Given the description of an element on the screen output the (x, y) to click on. 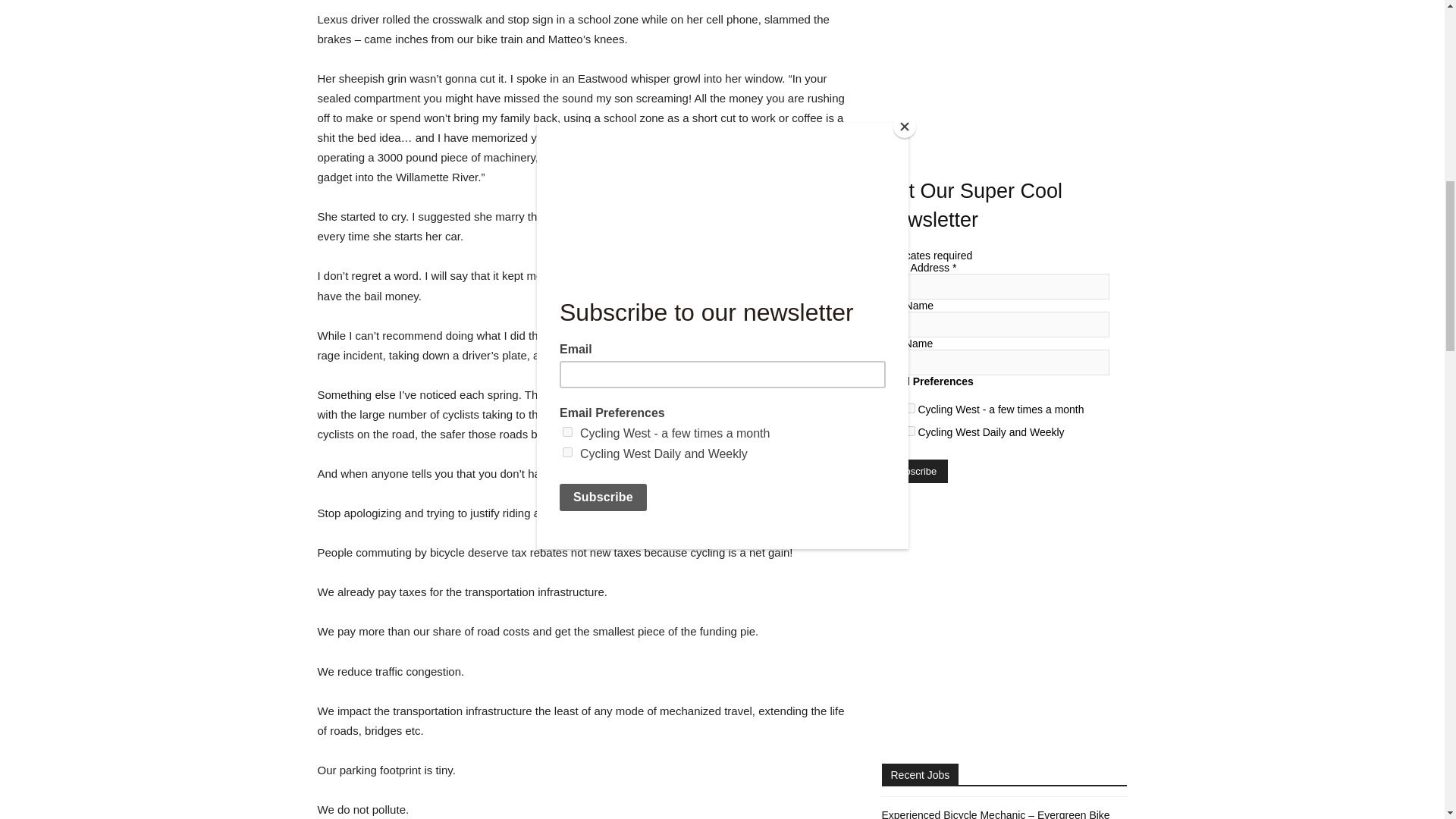
Subscribe (913, 471)
512 (910, 430)
256 (910, 408)
